Given the description of an element on the screen output the (x, y) to click on. 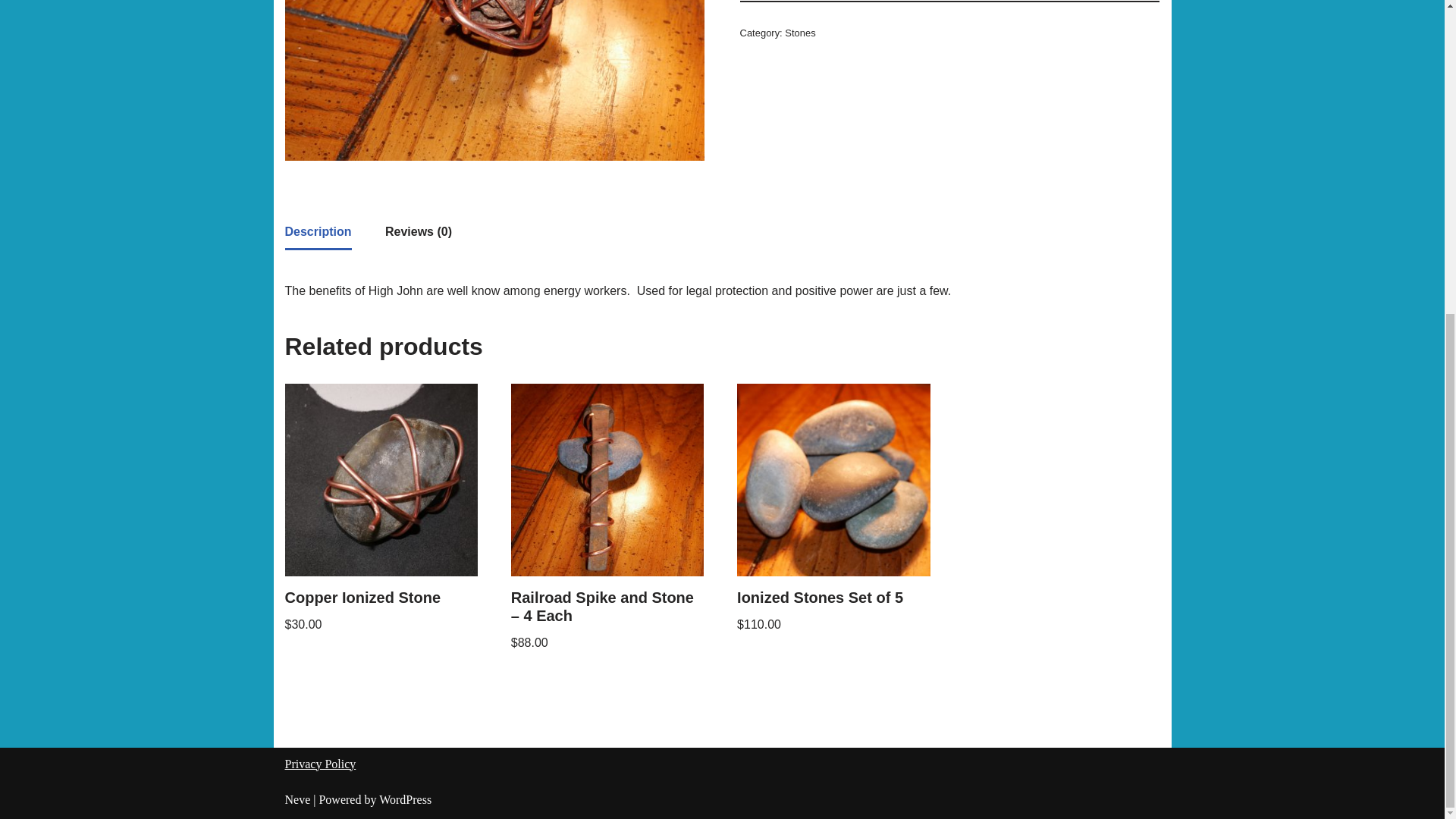
Neve (298, 799)
HIGH JOHN THE CONQUEROR ROOT (494, 80)
Stones (799, 32)
Privacy Policy (320, 763)
WordPress (404, 799)
Description (318, 231)
